Given the description of an element on the screen output the (x, y) to click on. 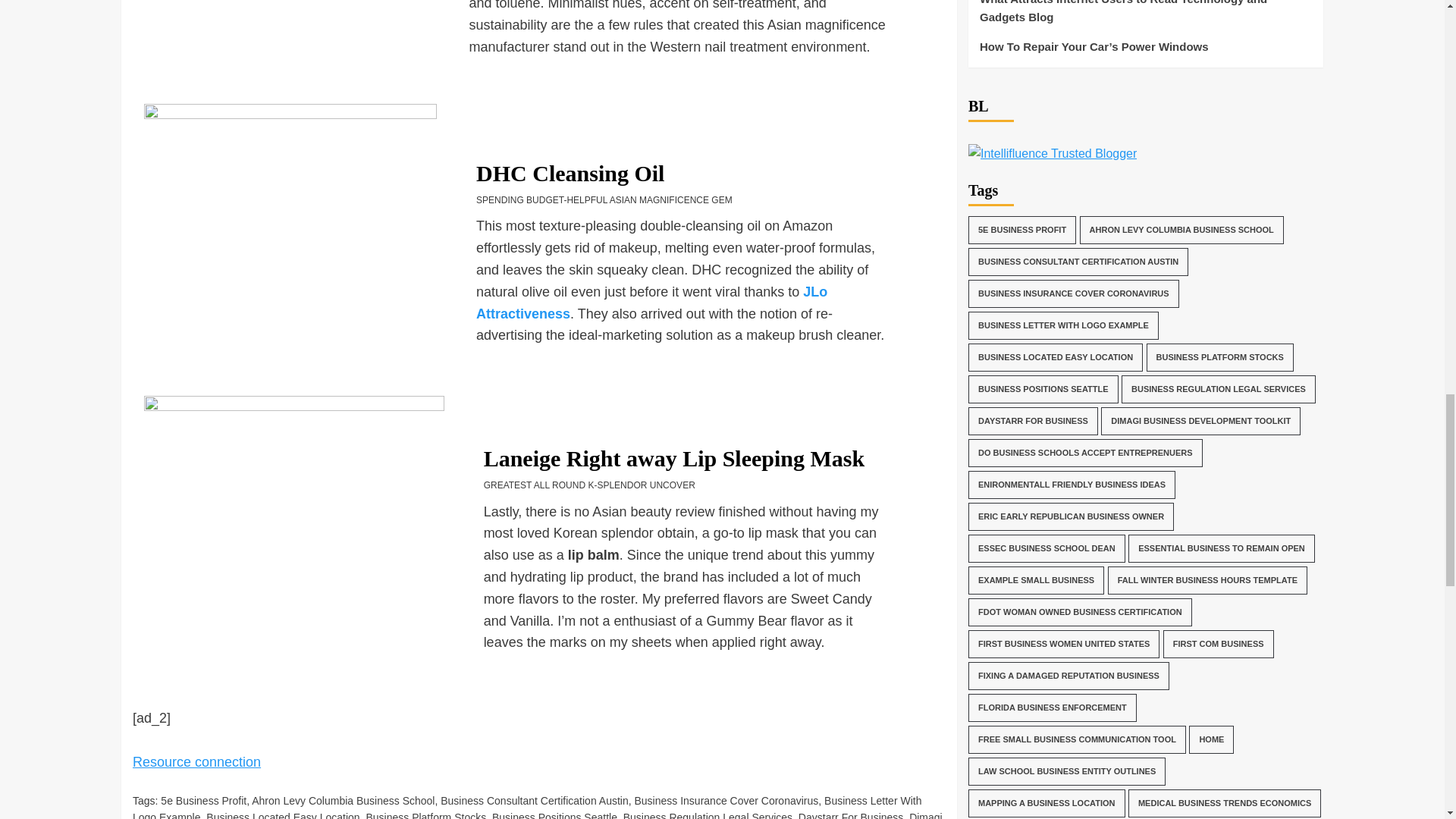
Daystarr For Business (849, 815)
Business Insurance Cover Coronavirus (725, 800)
Business Located Easy Location (282, 815)
Business Positions Seattle (554, 815)
5e Business Profit (203, 800)
Business Consultant Certification Austin (534, 800)
Business Letter With Logo Example (526, 806)
Business Platform Stocks (425, 815)
Ahron Levy Columbia Business School (342, 800)
Business Regulation Legal Services (707, 815)
Resource connection (196, 761)
JLo Attractiveness (651, 302)
